Given the description of an element on the screen output the (x, y) to click on. 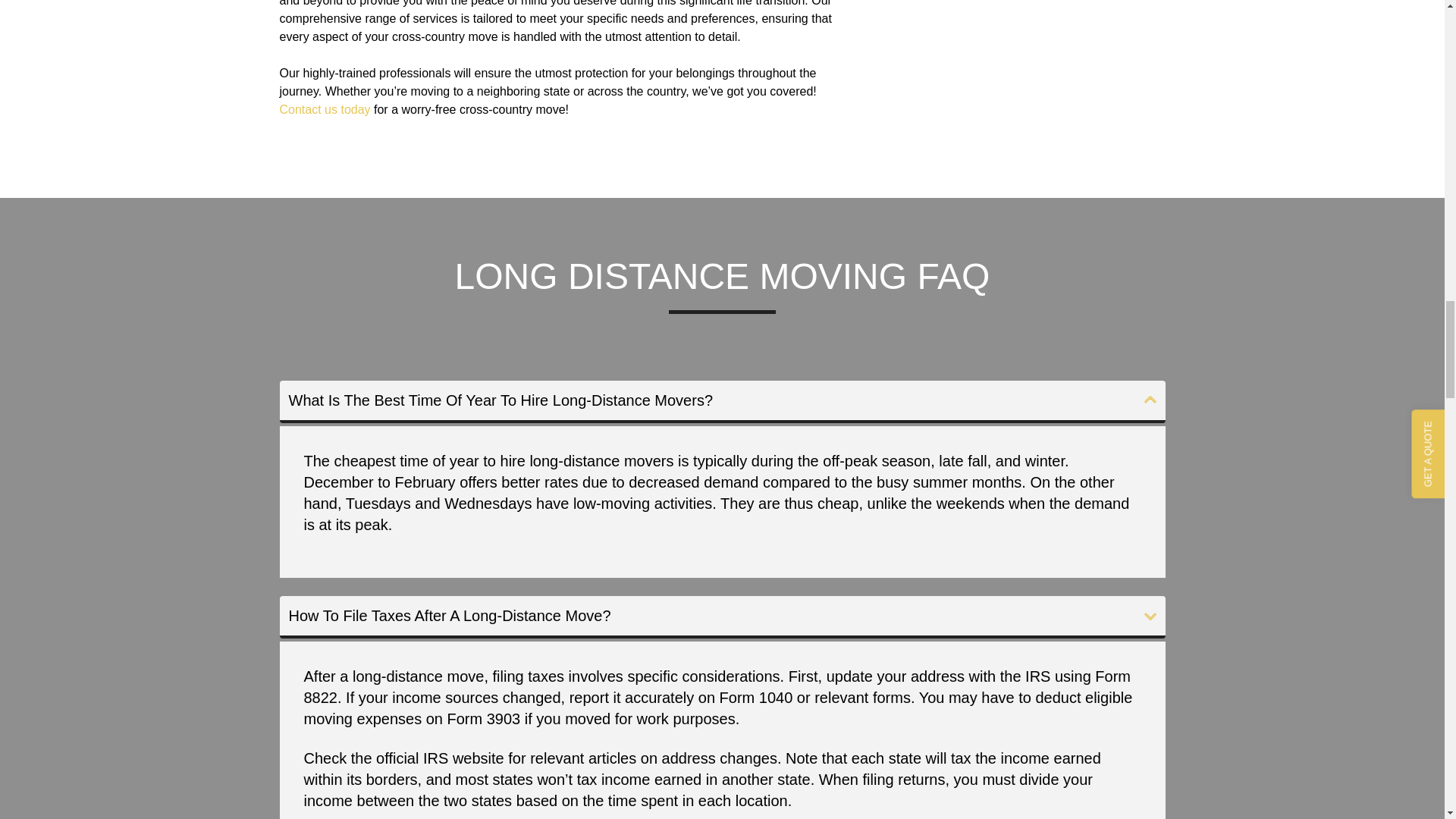
Arrow Down (1149, 399)
Arrow Down (1149, 616)
